Given the description of an element on the screen output the (x, y) to click on. 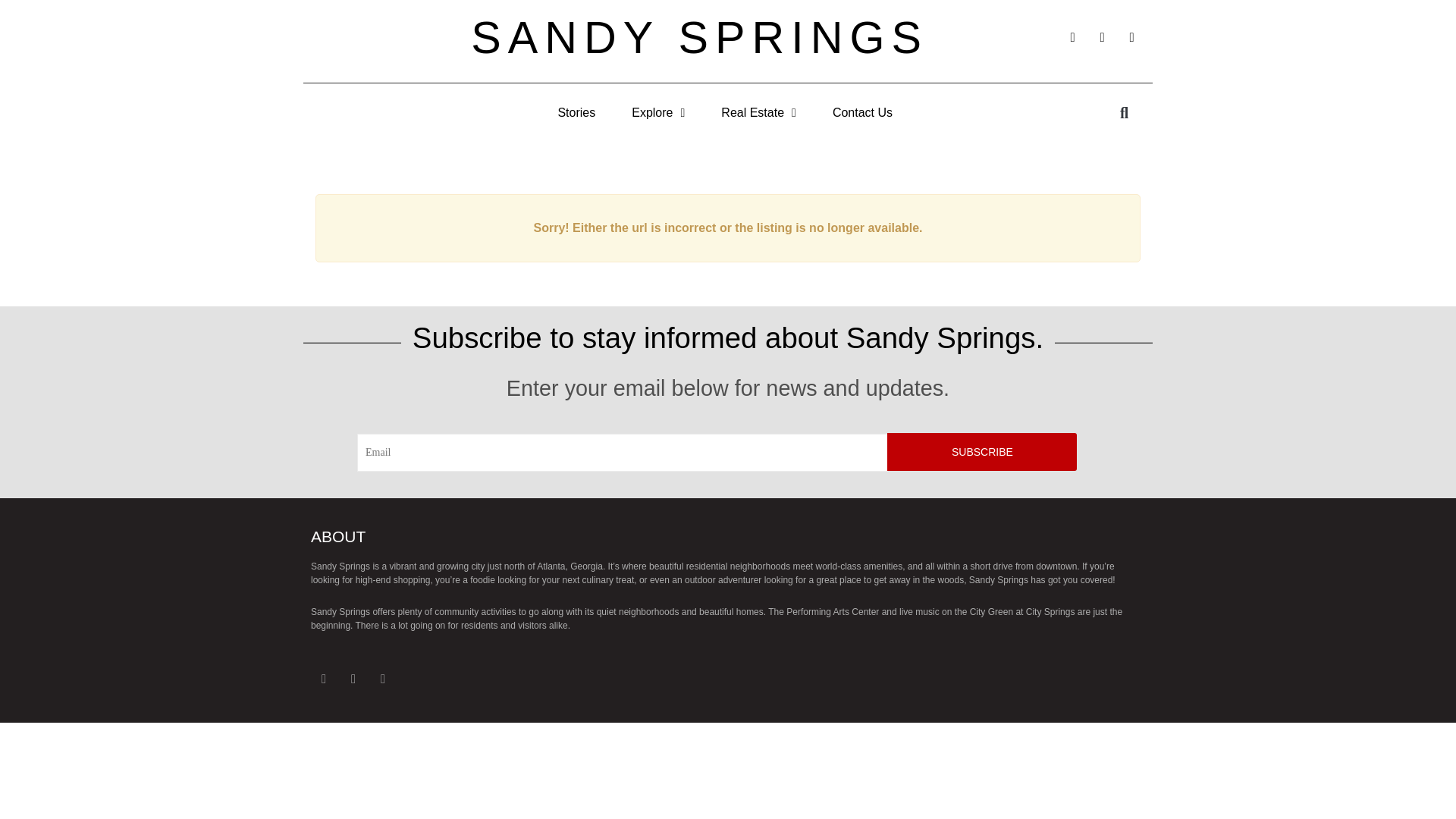
Real Estate (758, 112)
Contact Us (862, 112)
SANDY SPRINGS (699, 37)
SUBSCRIBE (981, 451)
Stories (575, 112)
Explore (657, 112)
